Given the description of an element on the screen output the (x, y) to click on. 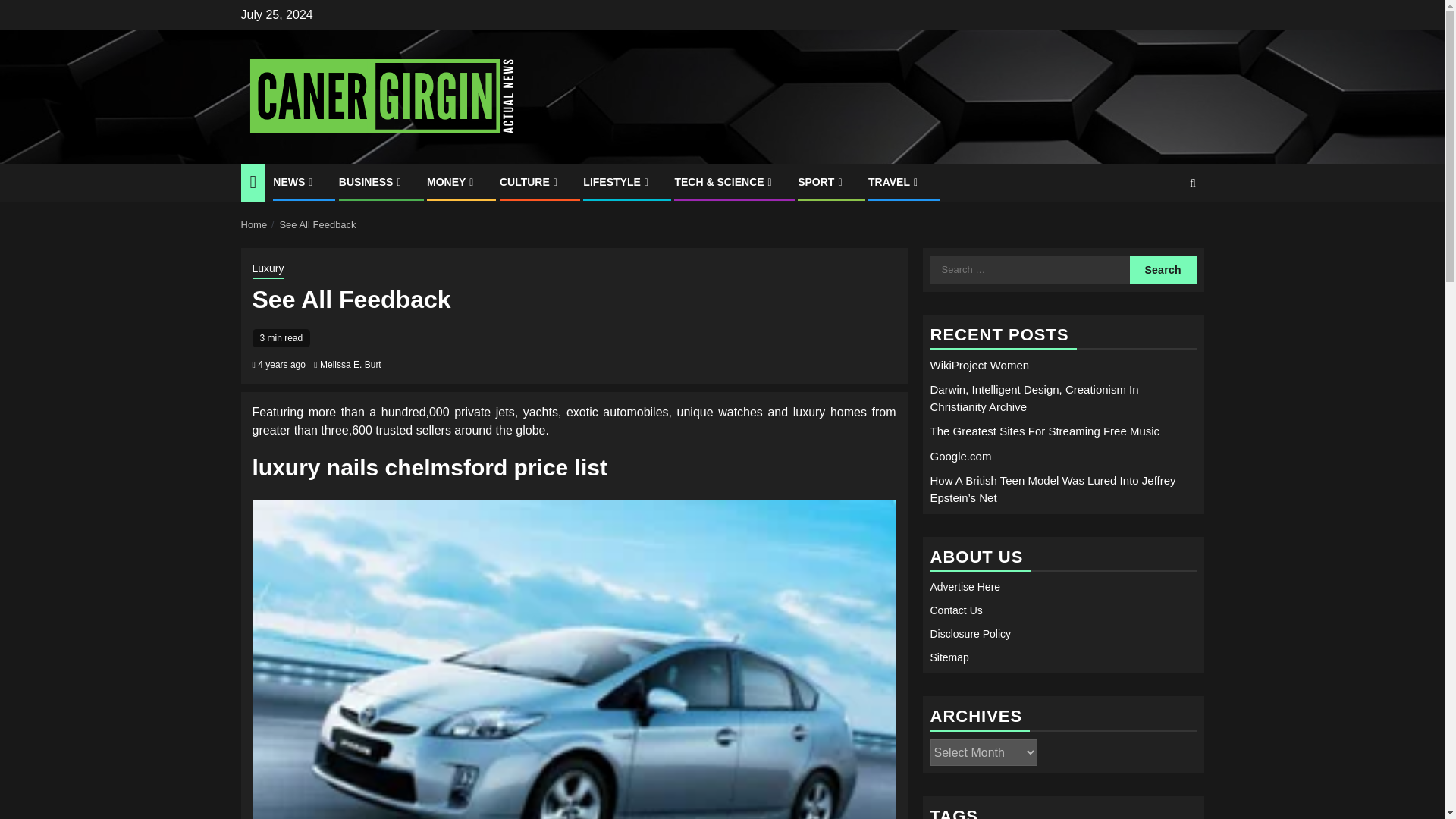
CULTURE (529, 182)
NEWS (294, 182)
Search (1162, 268)
MONEY (451, 182)
BUSINESS (371, 182)
Search (1162, 268)
